Given the description of an element on the screen output the (x, y) to click on. 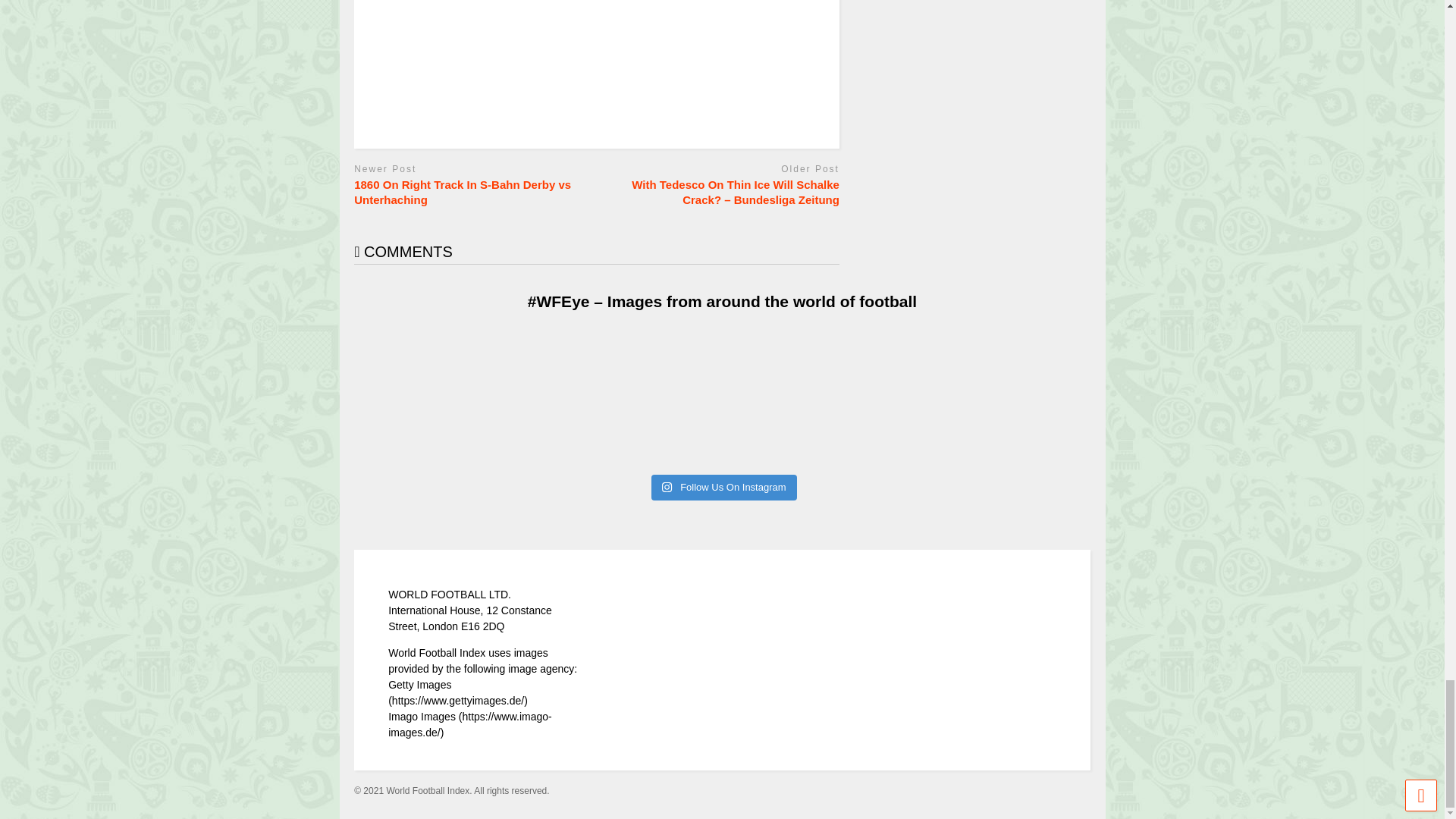
1860 On Right Track In S-Bahn Derby vs Unterhaching (471, 192)
